Given the description of an element on the screen output the (x, y) to click on. 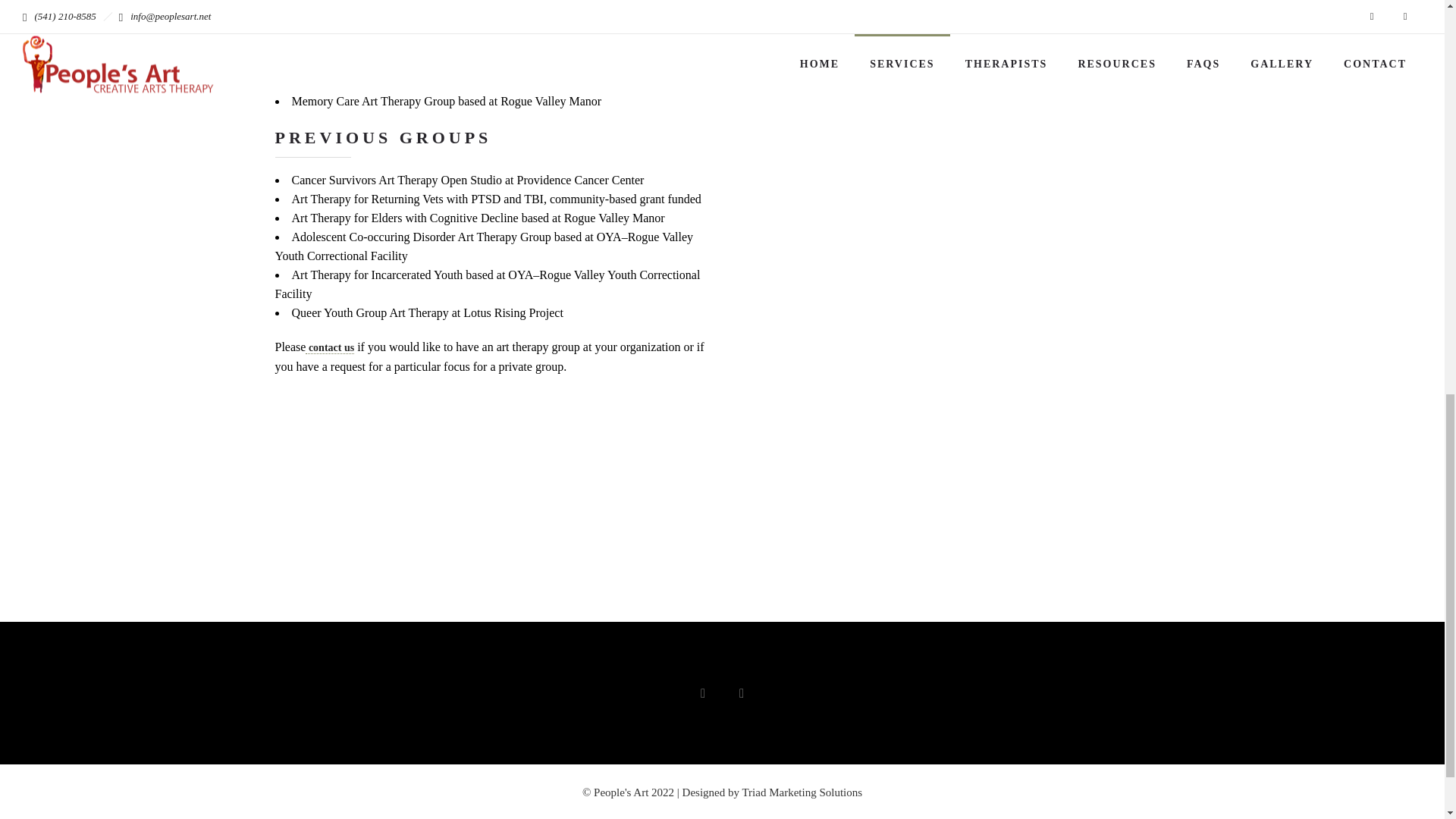
Kolpia Counseling (468, 72)
Instagram (741, 693)
contact us (329, 347)
Facebook (703, 693)
